Given the description of an element on the screen output the (x, y) to click on. 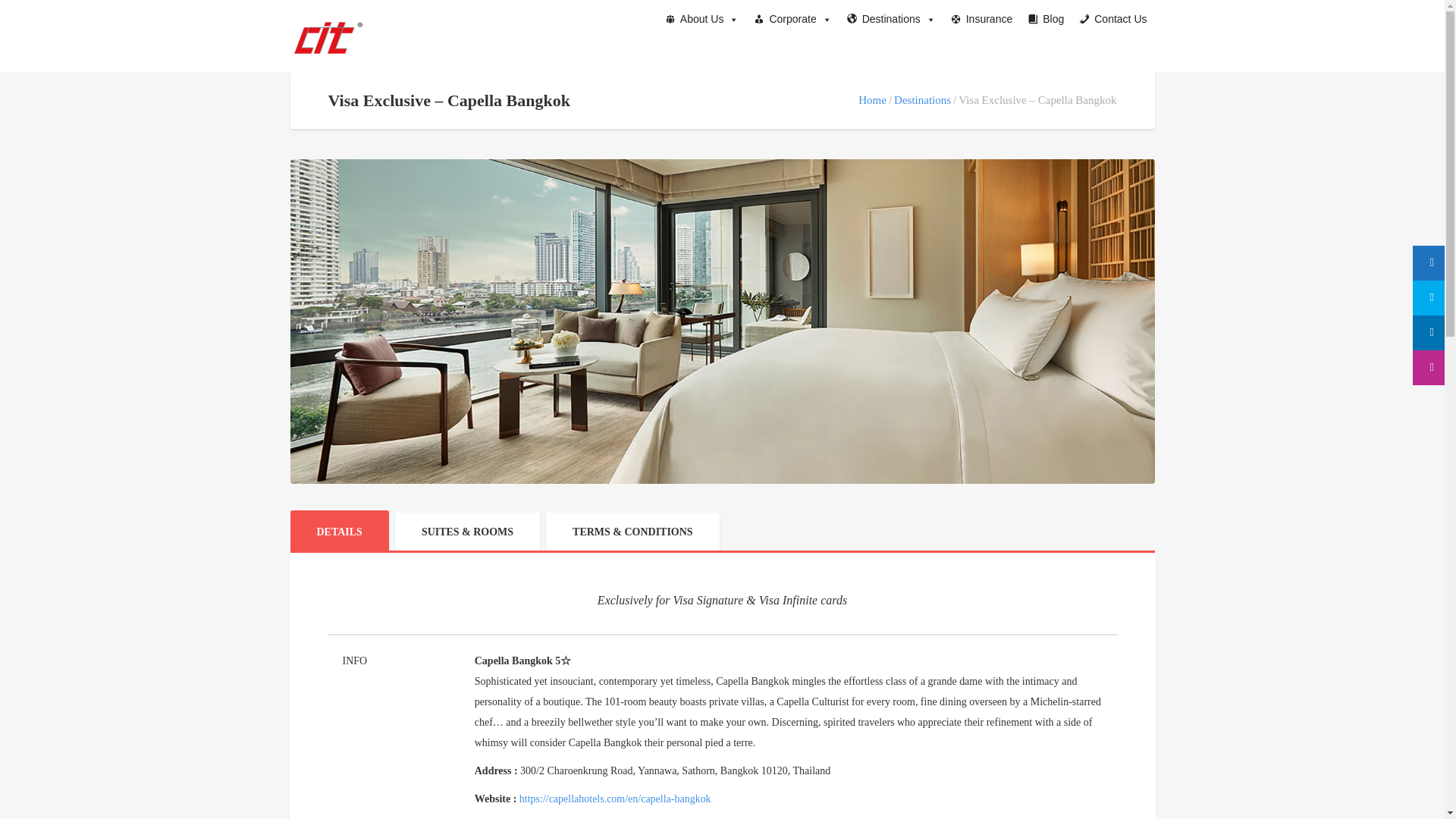
Destinations (921, 100)
DETAILS (338, 529)
Insurance (981, 18)
About Us (702, 18)
Destinations (891, 18)
Contact Us (1112, 18)
Blog (1045, 18)
Corporate (791, 18)
Home (872, 100)
Travel Agency in KL, Malaysia (327, 37)
